Given the description of an element on the screen output the (x, y) to click on. 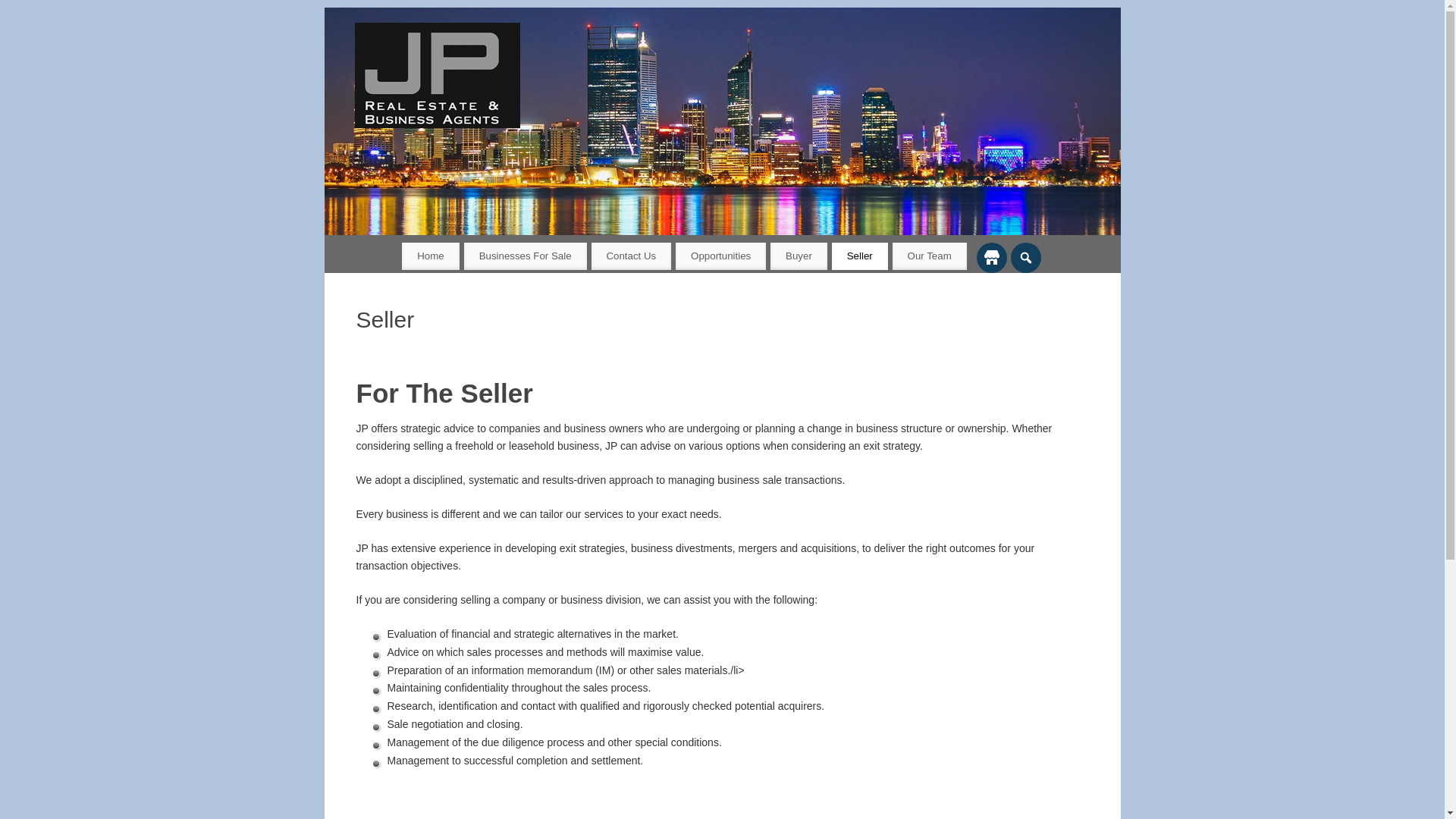
Our Team Element type: text (929, 255)
Businesses For Sale Element type: text (525, 255)
Home Element type: text (429, 255)
Opportunities Element type: text (720, 255)
Buyer Element type: text (798, 255)
Contact Us Element type: text (631, 255)
Seller Element type: text (859, 255)
